Given the description of an element on the screen output the (x, y) to click on. 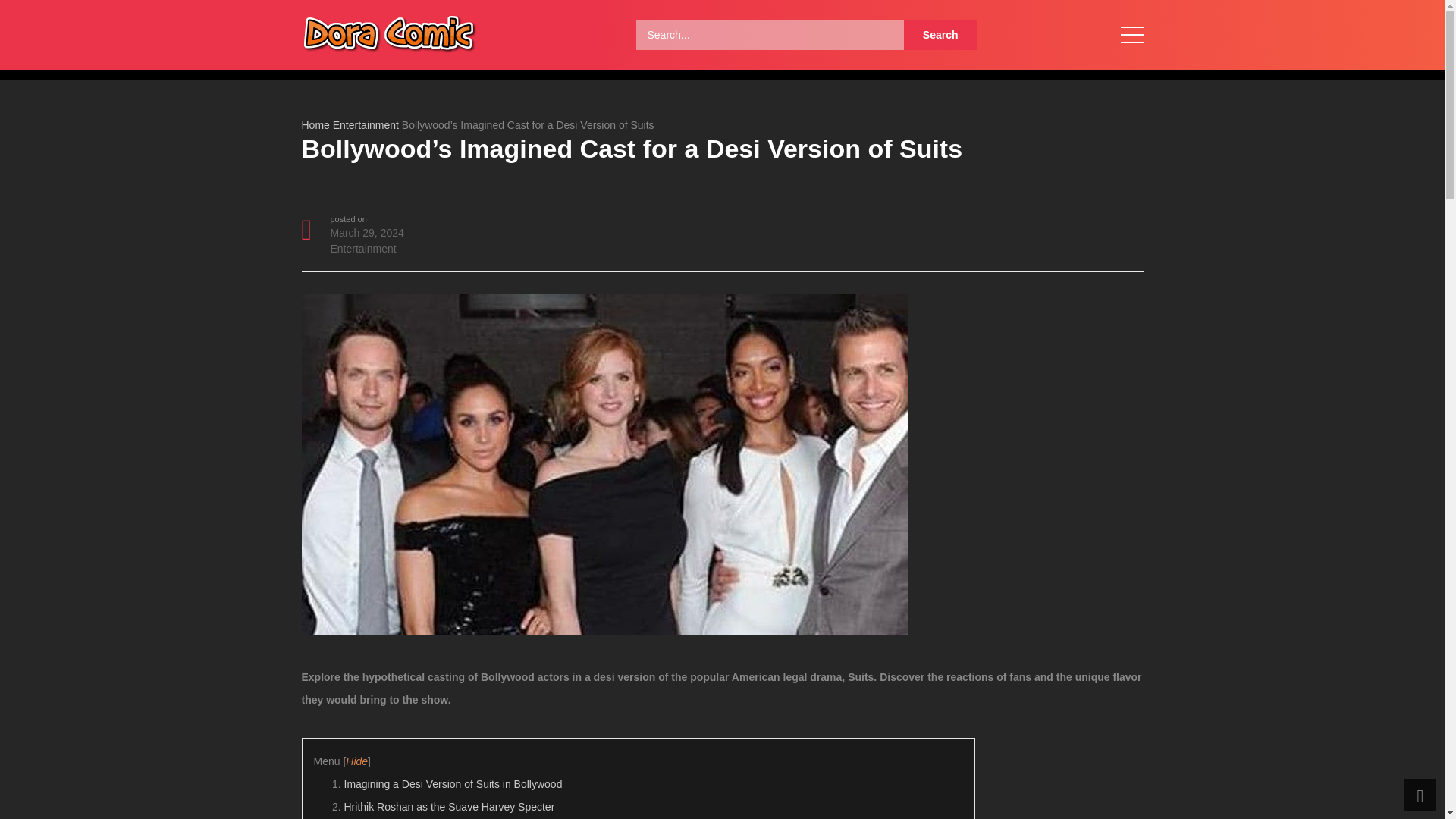
Search (940, 34)
Entertainment (363, 248)
Entertainment (365, 124)
Dora Comics (389, 33)
Hrithik Roshan as the Suave Harvey Specter (448, 806)
View all posts in Entertainment (363, 248)
Hide (357, 761)
March 29, 2024 (367, 232)
Home (315, 124)
Imagining a Desi Version of Suits in Bollywood (452, 784)
Search (940, 34)
